Given the description of an element on the screen output the (x, y) to click on. 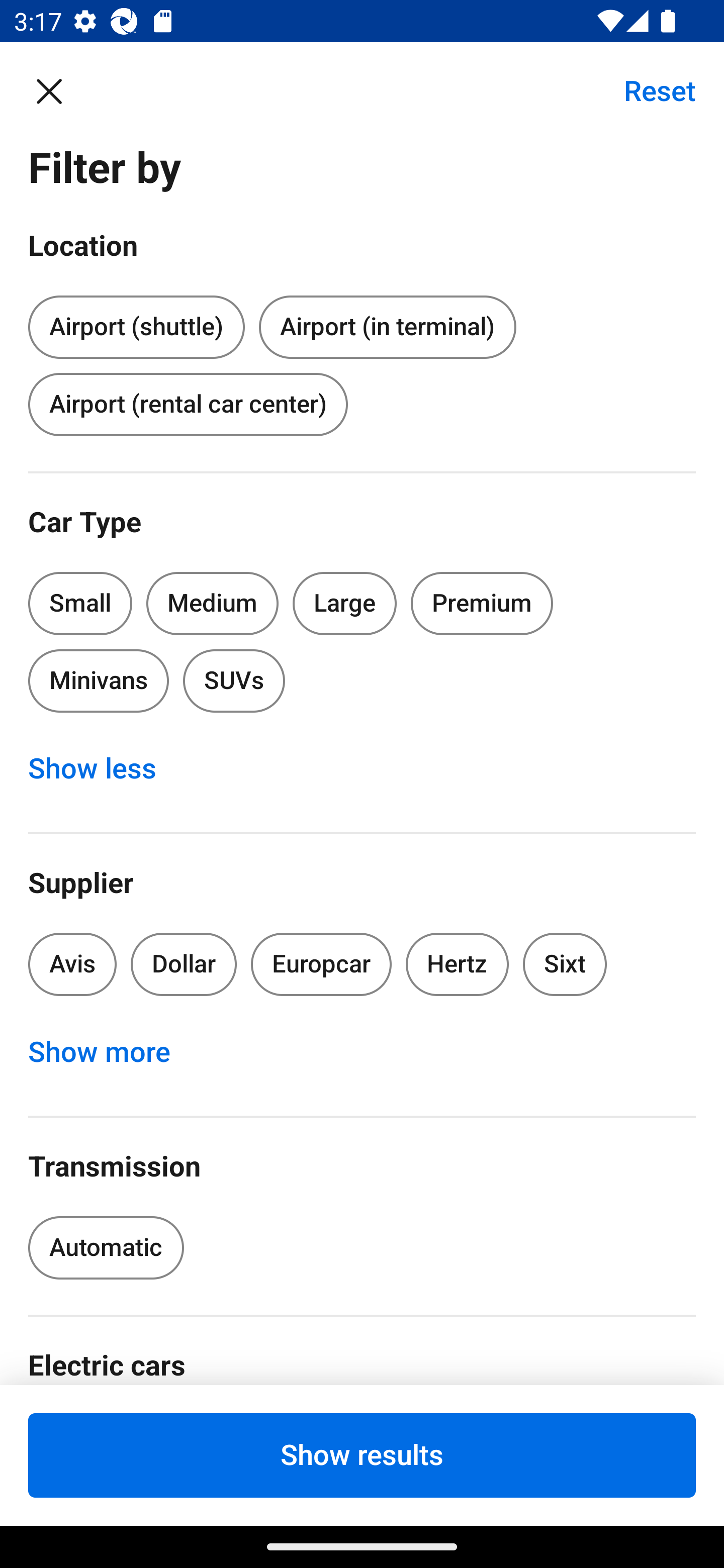
Close (59, 90)
Reset (649, 90)
Airport (shuttle) (136, 323)
Airport (in terminal) (387, 327)
Airport (rental car center) (187, 404)
Small (80, 603)
Medium (212, 603)
Large (344, 603)
Premium (482, 603)
Minivans (98, 680)
SUVs (233, 680)
Show less (102, 767)
Avis (72, 963)
Dollar (183, 963)
Europcar (321, 963)
Hertz (457, 963)
Sixt (564, 963)
Show more (109, 1051)
Automatic (105, 1247)
Show results (361, 1454)
